Given the description of an element on the screen output the (x, y) to click on. 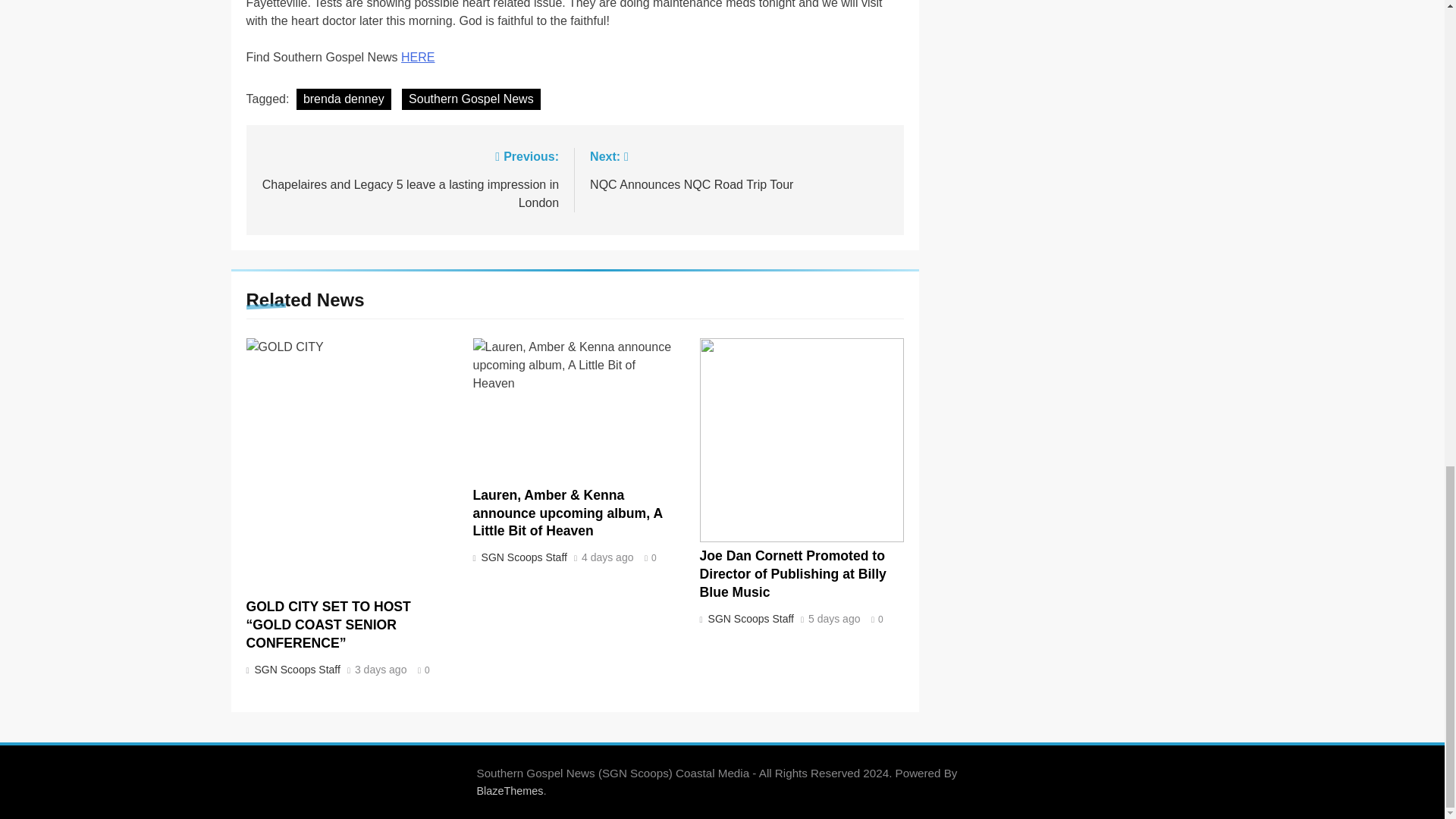
Southern Gospel News (470, 98)
BlazeThemes (509, 790)
4 days ago (738, 169)
SGN Scoops Staff (606, 557)
brenda denney (749, 618)
SGN Scoops Staff (344, 98)
HERE (295, 669)
